Given the description of an element on the screen output the (x, y) to click on. 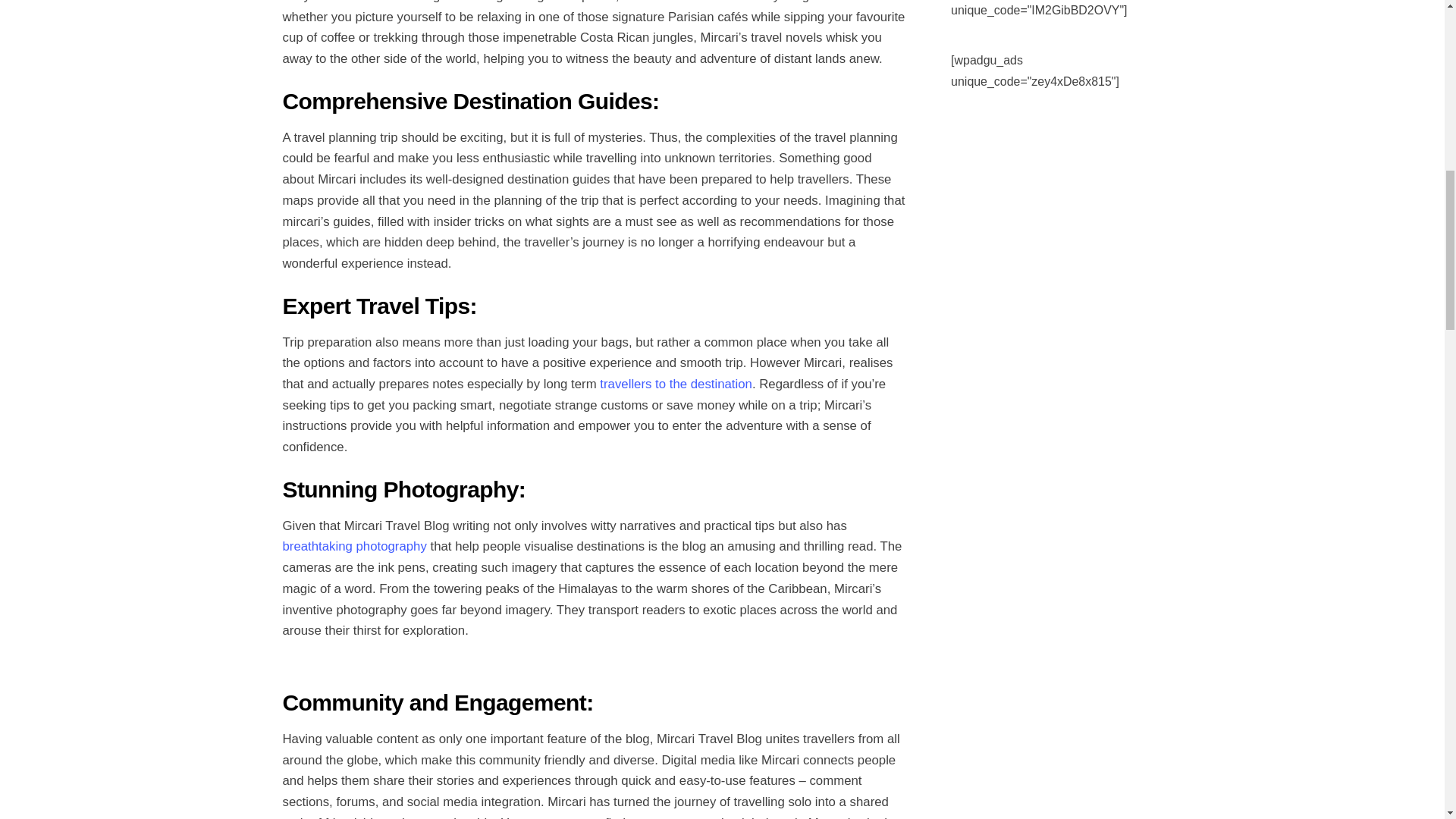
travellers to the destination (674, 383)
breathtaking photography (354, 545)
